Given the description of an element on the screen output the (x, y) to click on. 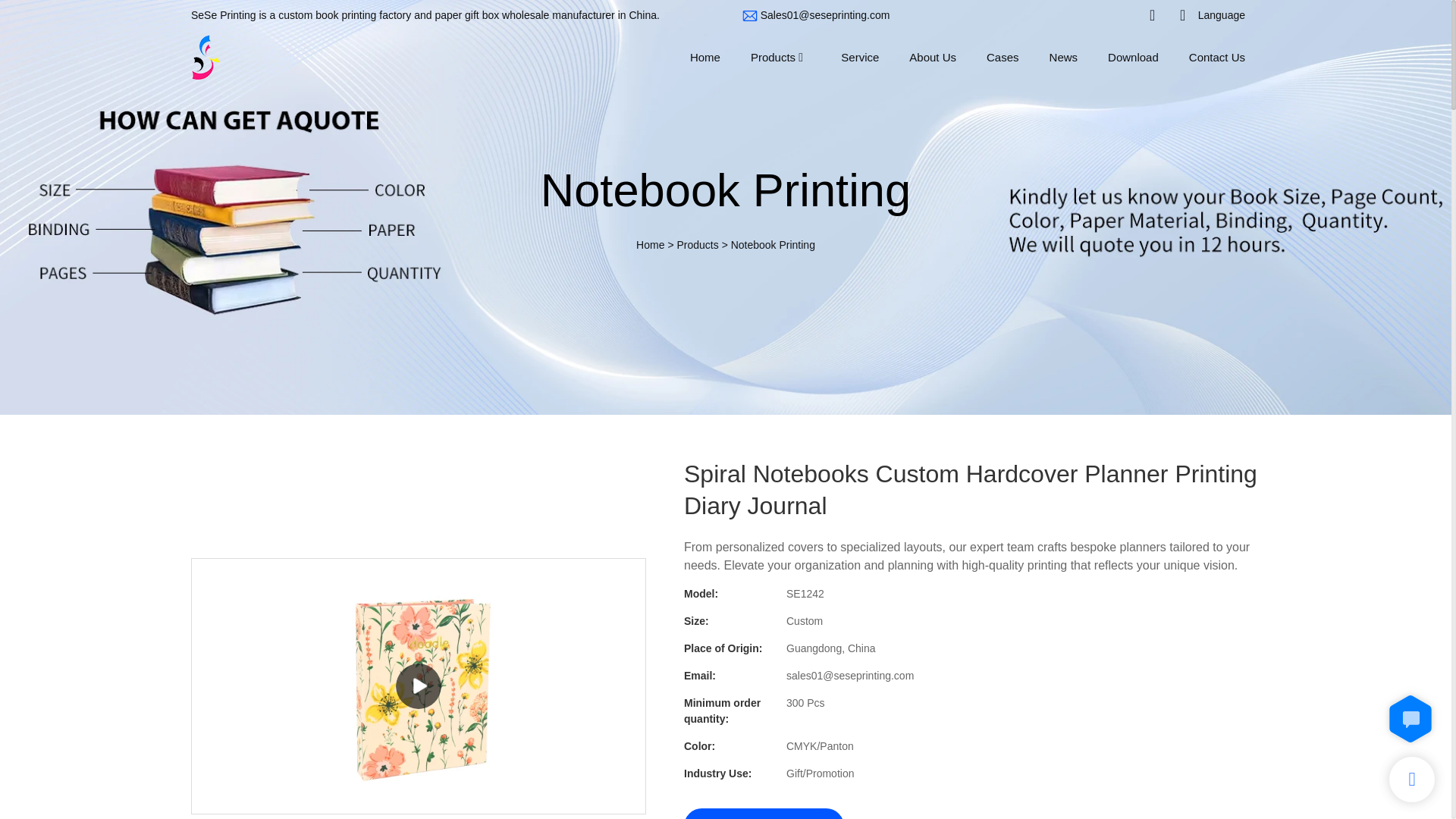
Products (697, 244)
Service (860, 56)
Home (649, 244)
Cases (1003, 56)
About Us (932, 56)
Download (1133, 56)
News (1063, 56)
Products (772, 56)
Contact Us (1216, 56)
Home (705, 56)
Notebook Printing (772, 244)
